Given the description of an element on the screen output the (x, y) to click on. 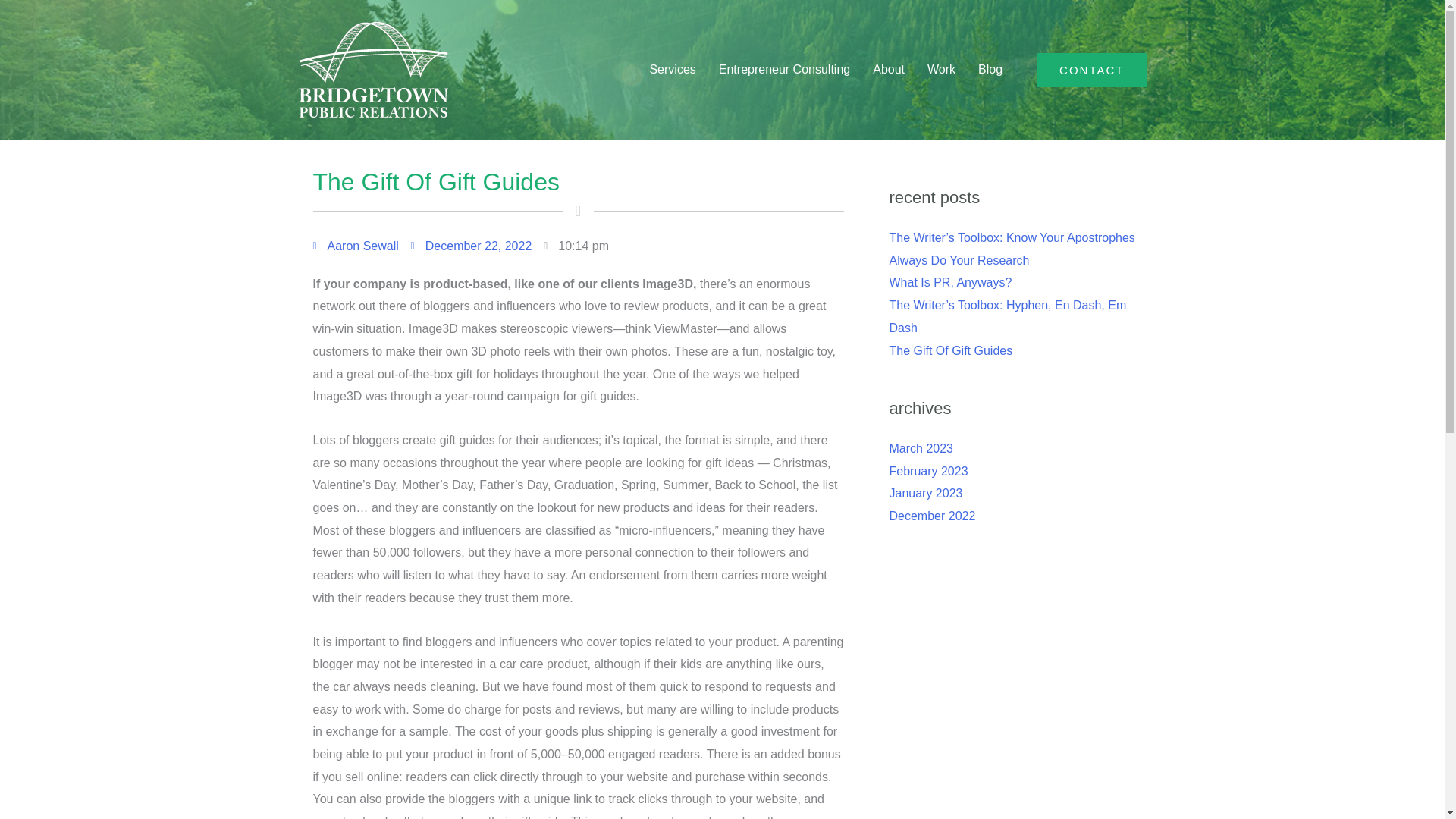
March 2023 (920, 448)
CONTACT (1091, 69)
Always Do Your Research (958, 259)
January 2023 (925, 492)
December 2022 (931, 515)
The Gift Of Gift Guides (949, 350)
Services (671, 69)
December 22, 2022 (471, 246)
February 2023 (928, 471)
Work (940, 69)
